Given the description of an element on the screen output the (x, y) to click on. 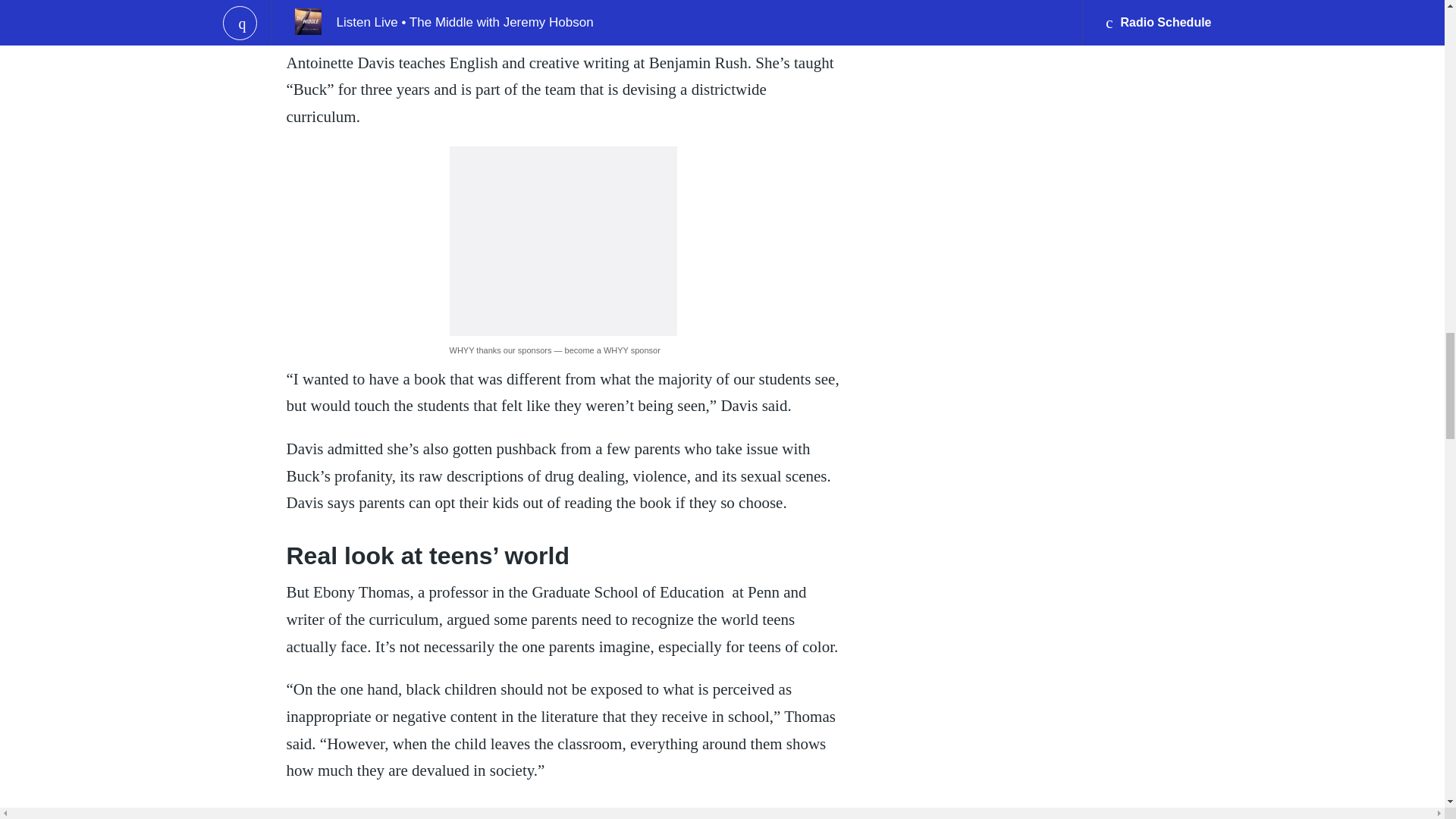
3rd party ad content (562, 240)
